Given the description of an element on the screen output the (x, y) to click on. 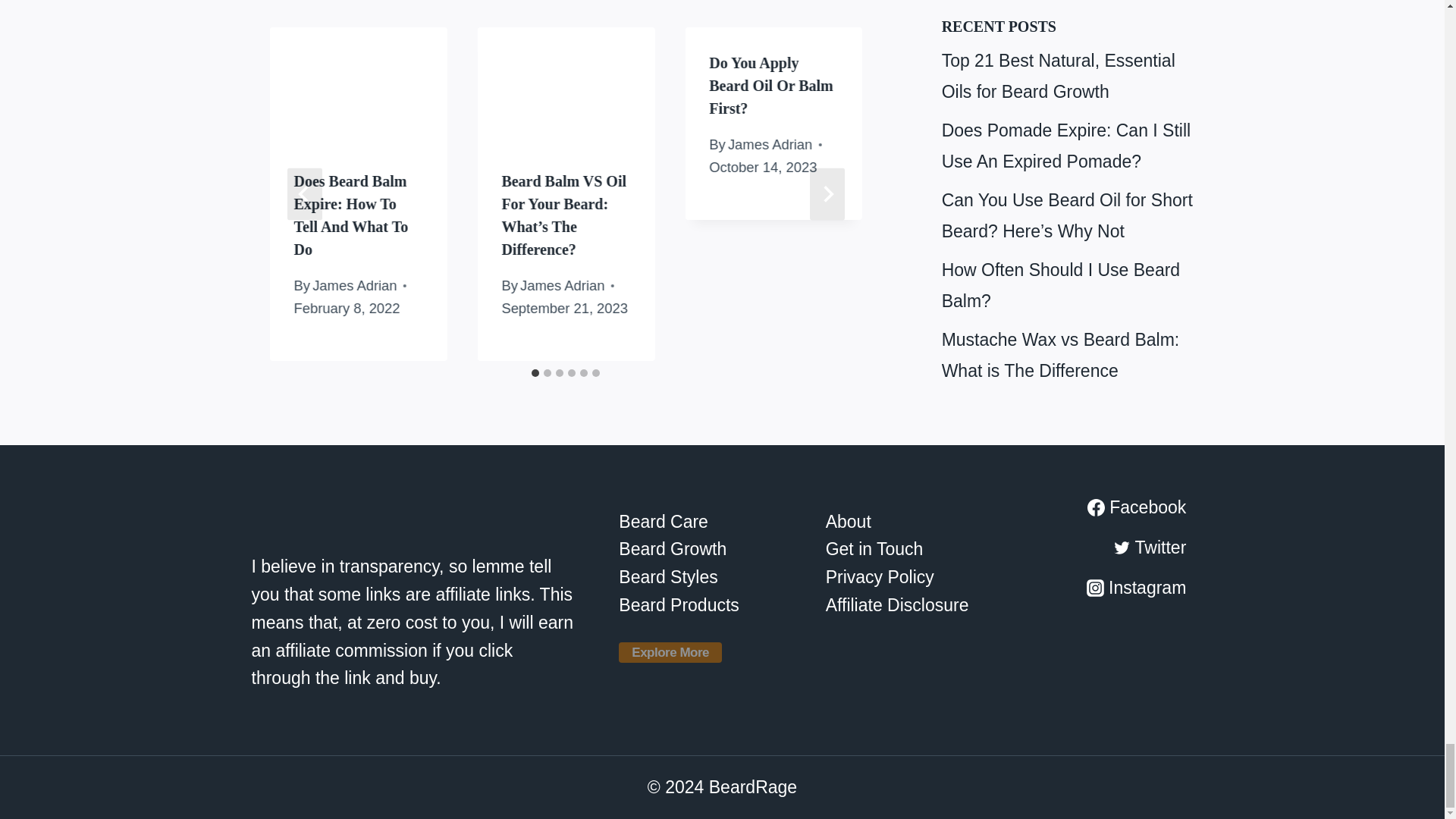
Explore More (670, 652)
Does Beard Balm Expire: How to Tell and What to Do 1 (357, 86)
